Given the description of an element on the screen output the (x, y) to click on. 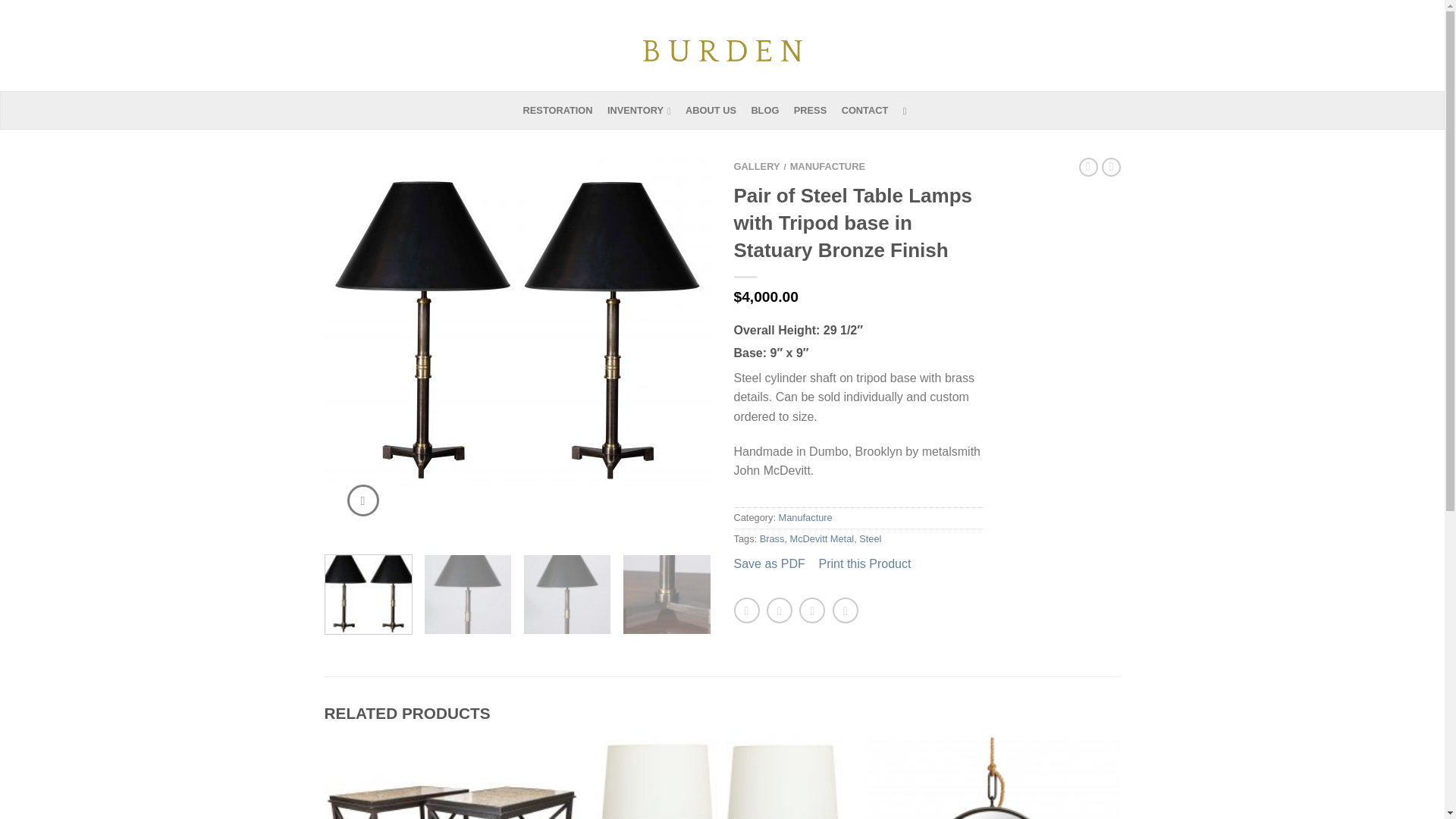
Print this Product (864, 563)
ABOUT US (716, 110)
Manufacture (805, 517)
Steel (869, 538)
INVENTORY (644, 110)
BURDEN - Dealers and Conservators of Fine Furniture (722, 45)
GALLERY (756, 165)
CONTACT (870, 110)
MANUFACTURE (827, 165)
PRESS (815, 110)
